Given the description of an element on the screen output the (x, y) to click on. 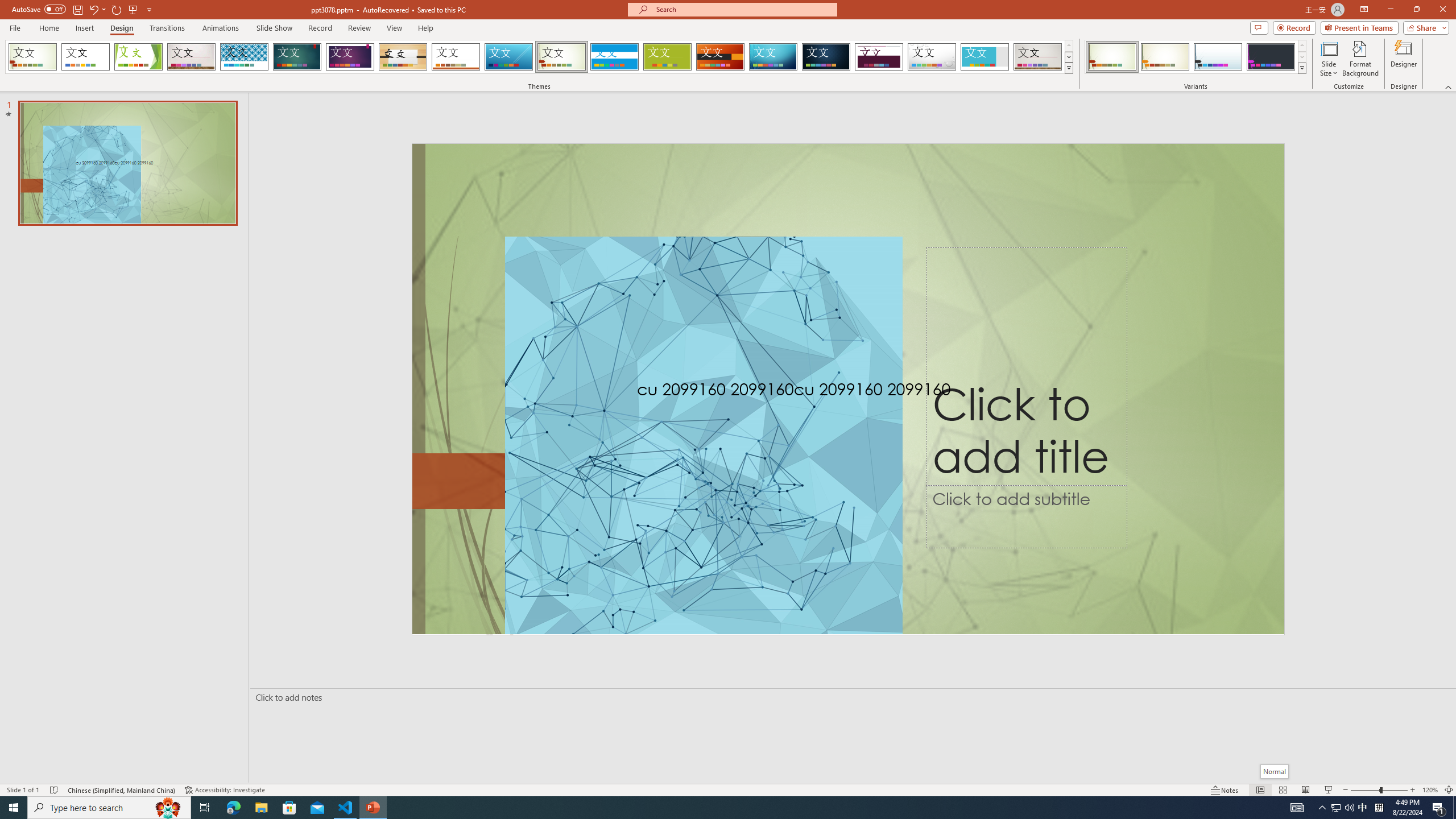
Facet (138, 56)
Themes (1068, 67)
Gallery Loading Preview... (1037, 56)
Slice Loading Preview... (508, 56)
Zoom 120% (1430, 790)
Droplet Loading Preview... (931, 56)
